Given the description of an element on the screen output the (x, y) to click on. 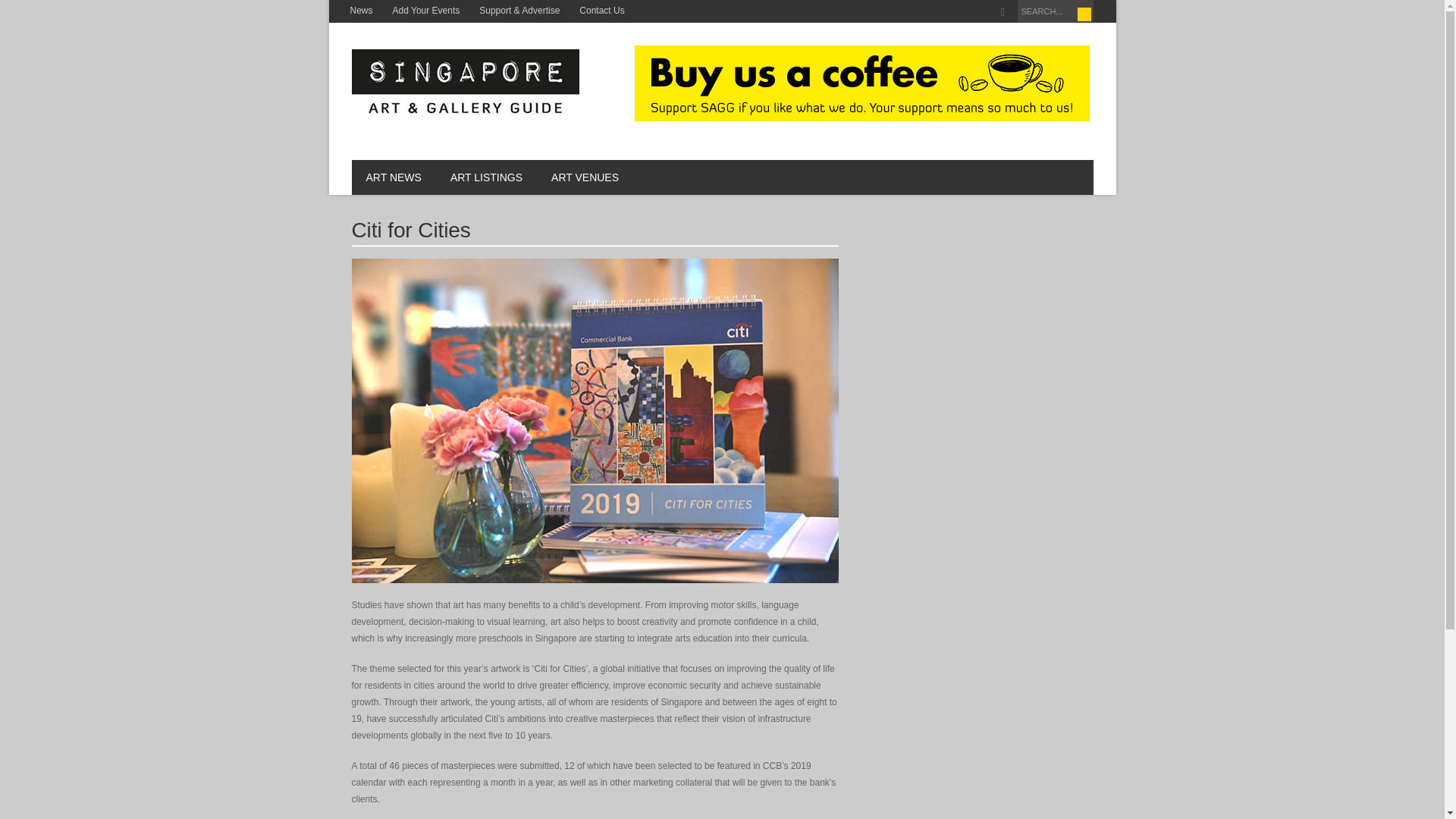
SEARCH... (1055, 11)
Facebook (1002, 11)
Search (1083, 14)
Contact Us (601, 11)
Add Your Events (426, 11)
Search (1083, 14)
News (360, 11)
ART VENUES (585, 176)
ART LISTINGS (486, 176)
PayPal - The safer, easier way to pay online! (861, 83)
ART NEWS (393, 176)
Search (1083, 14)
